Given the description of an element on the screen output the (x, y) to click on. 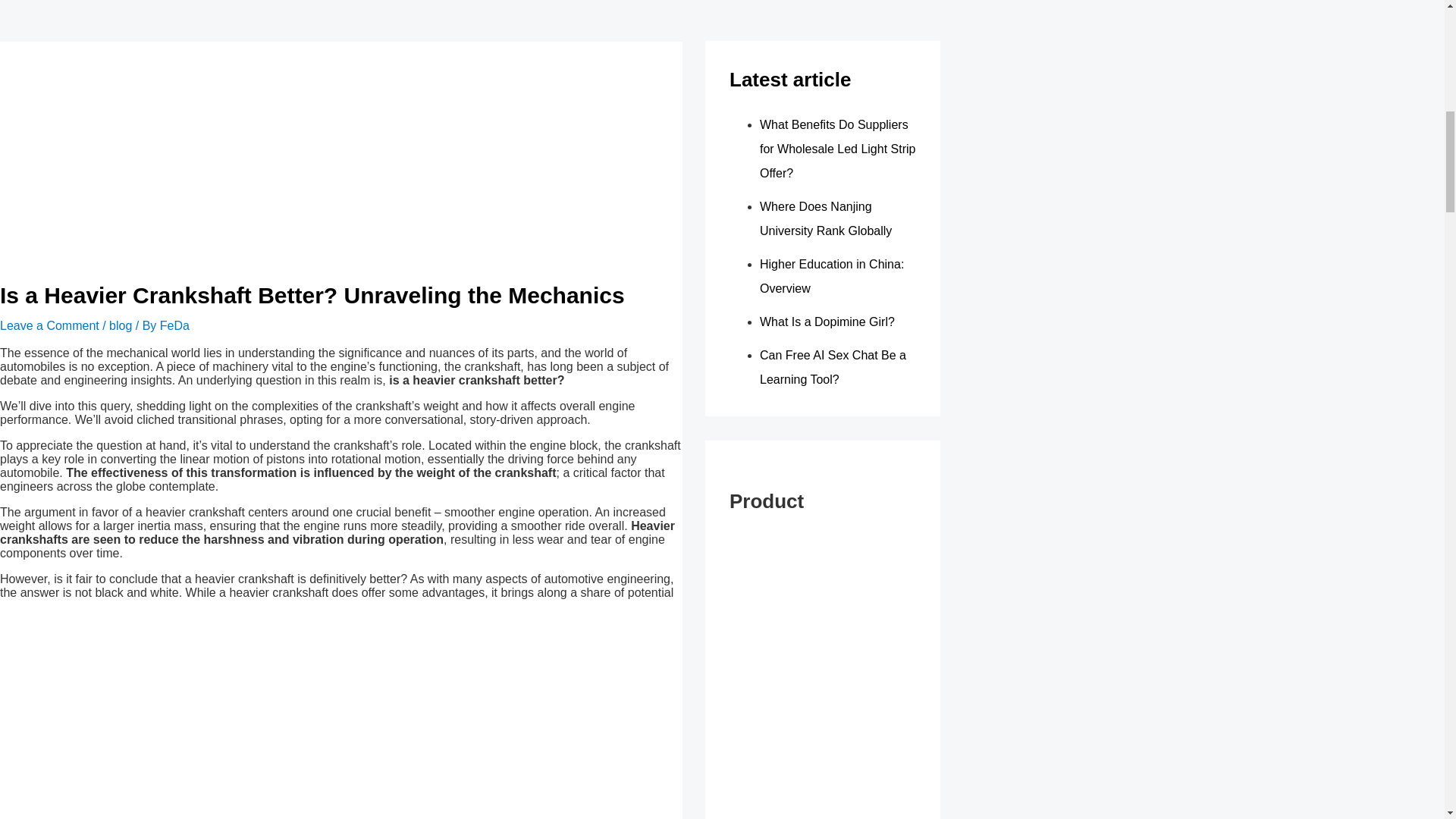
Leave a Comment (49, 325)
Where Does Nanjing University Rank Globally (825, 218)
FeDa (174, 325)
View all posts by FeDa (174, 325)
blog (120, 325)
What Is a Dopimine Girl? (827, 321)
Higher Education in China: Overview (832, 275)
